Given the description of an element on the screen output the (x, y) to click on. 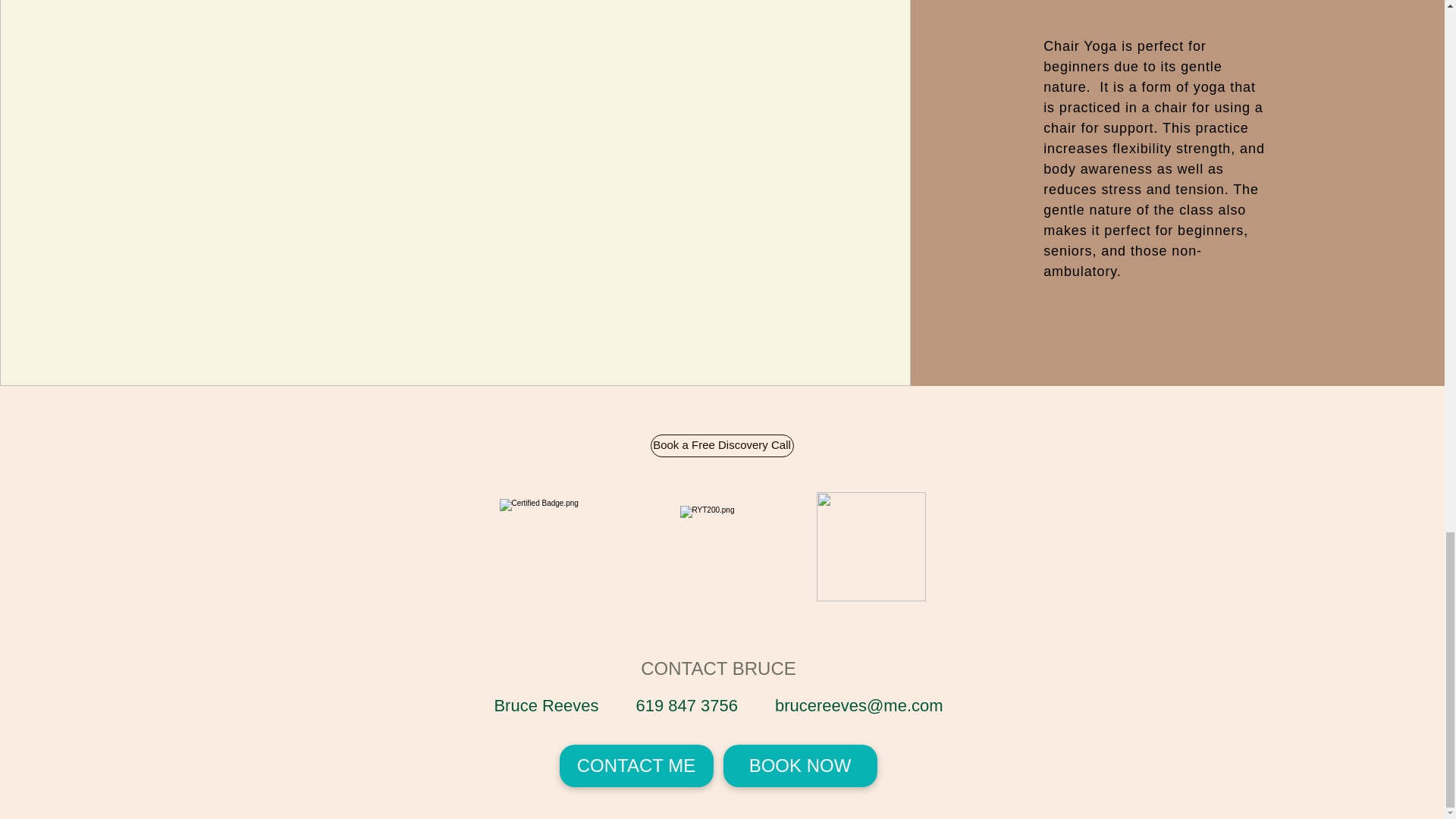
CONTACT ME (636, 765)
Karen Pryor Academy.png (869, 545)
BOOK NOW (800, 765)
Book a Free Discovery Call (721, 445)
